Given the description of an element on the screen output the (x, y) to click on. 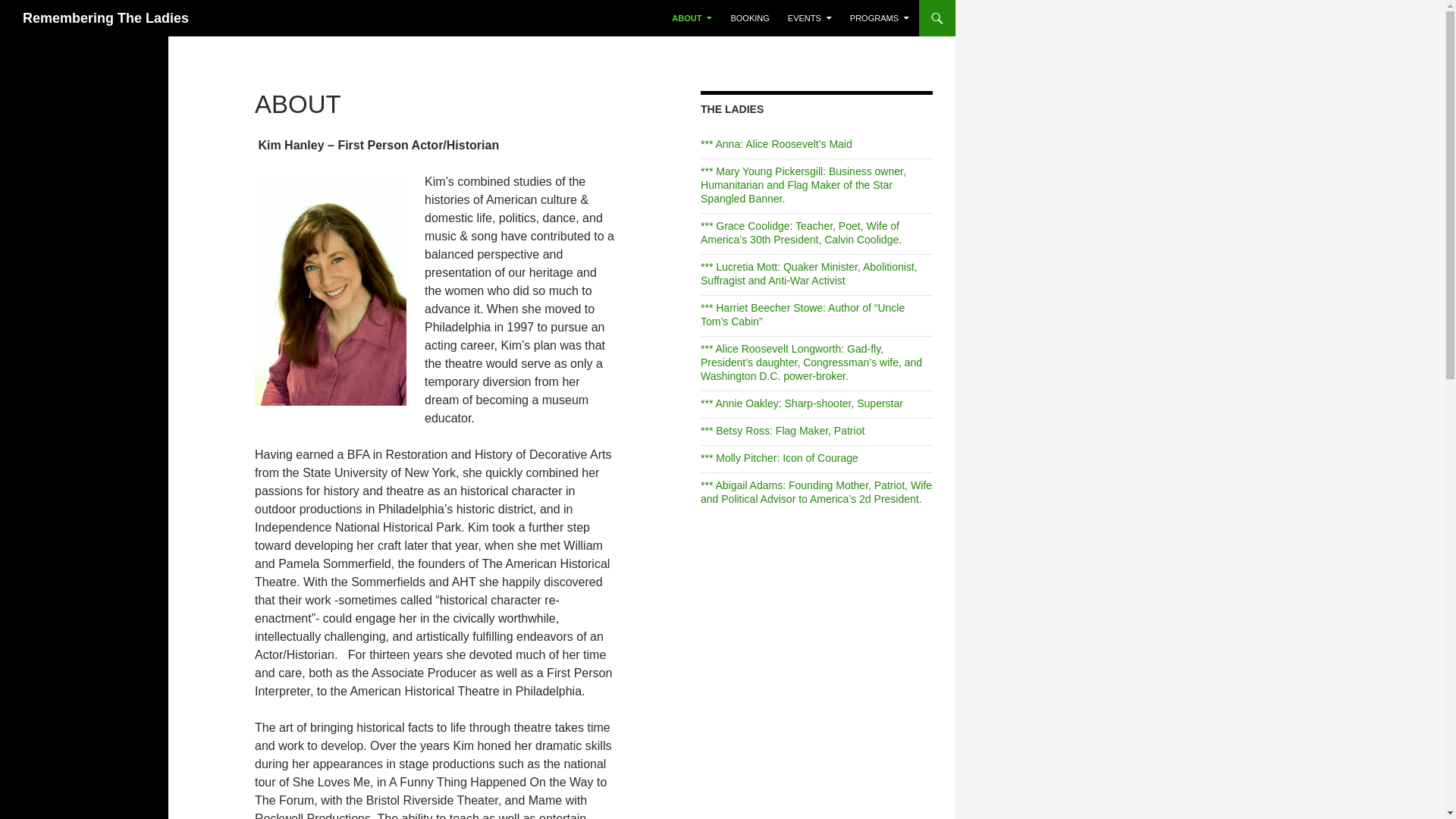
Search (23, 9)
Remembering The Ladies (106, 18)
SKIP TO CONTENT (708, 6)
EVENTS (809, 18)
PROGRAMS (879, 18)
BOOKING (748, 18)
ABOUT (691, 18)
